Given the description of an element on the screen output the (x, y) to click on. 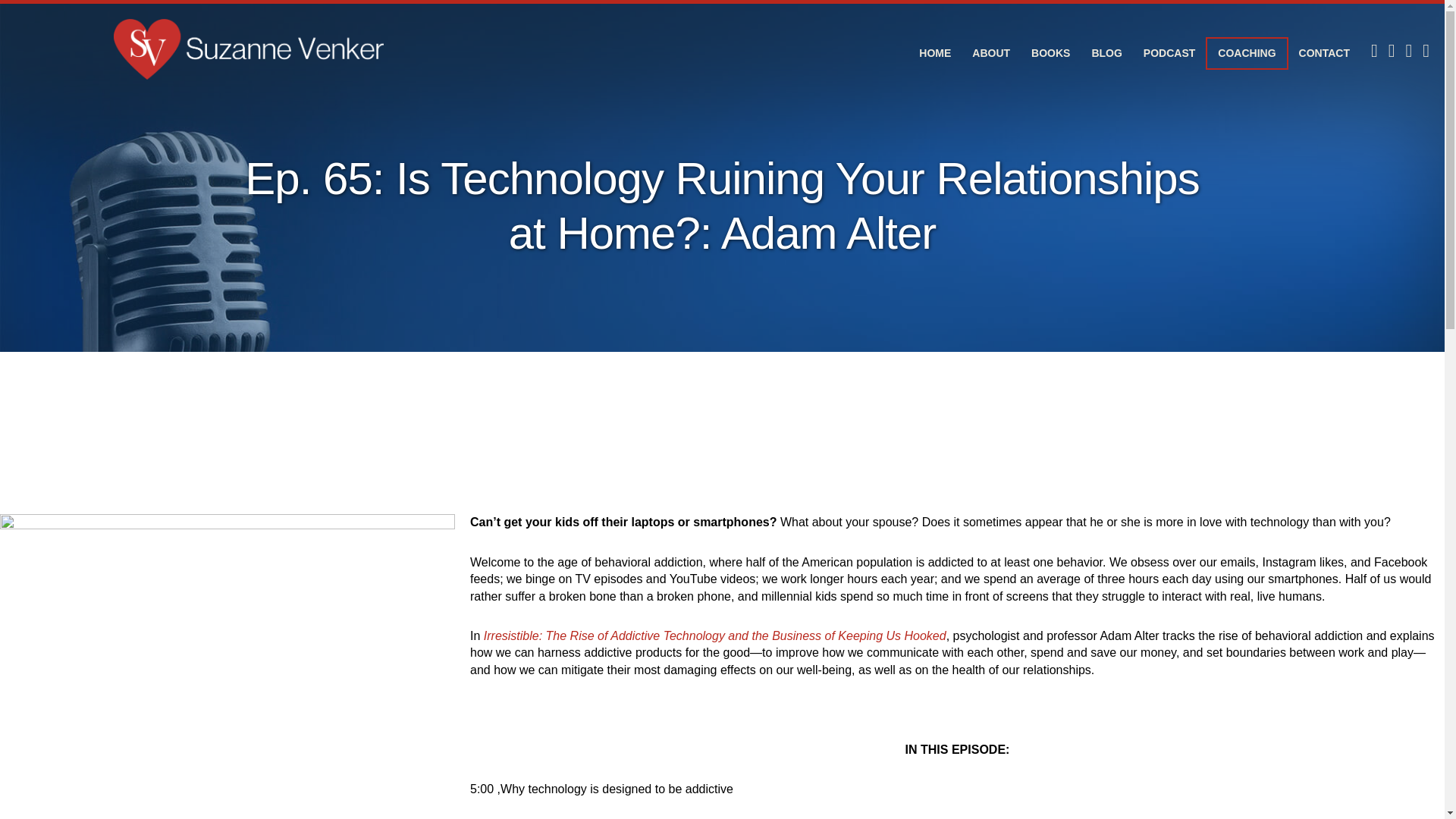
ABOUT (990, 54)
COACHING (1246, 52)
CONTACT (1323, 54)
BOOKS (1050, 54)
Suzanne Venker (248, 48)
HOME (934, 54)
PODCAST (1168, 54)
